Given the description of an element on the screen output the (x, y) to click on. 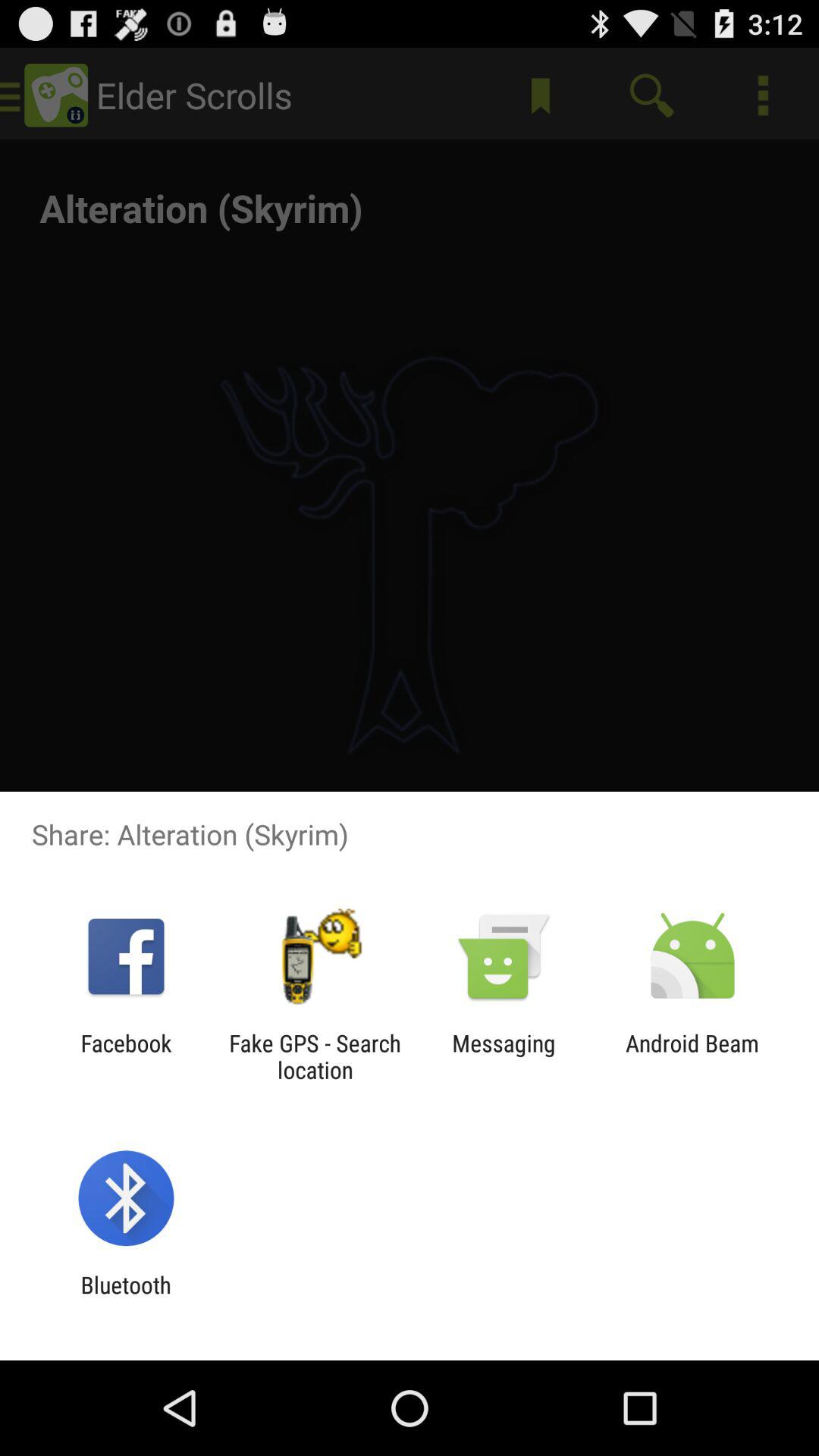
click the icon next to the fake gps search (503, 1056)
